Given the description of an element on the screen output the (x, y) to click on. 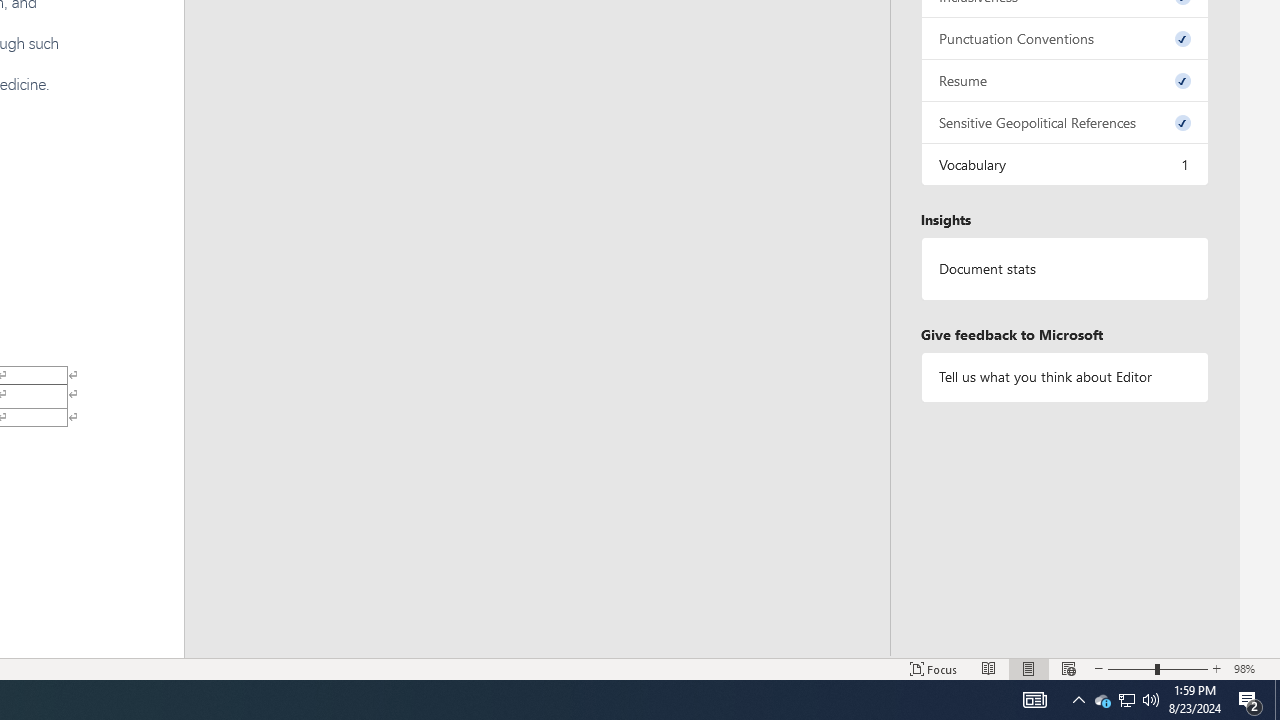
Document statistics (1064, 269)
Tell us what you think about Editor (1064, 376)
Zoom (1158, 668)
Vocabulary, 1 issue. Press space or enter to review items. (1064, 164)
Resume, 0 issues. Press space or enter to review items. (1064, 79)
